Given the description of an element on the screen output the (x, y) to click on. 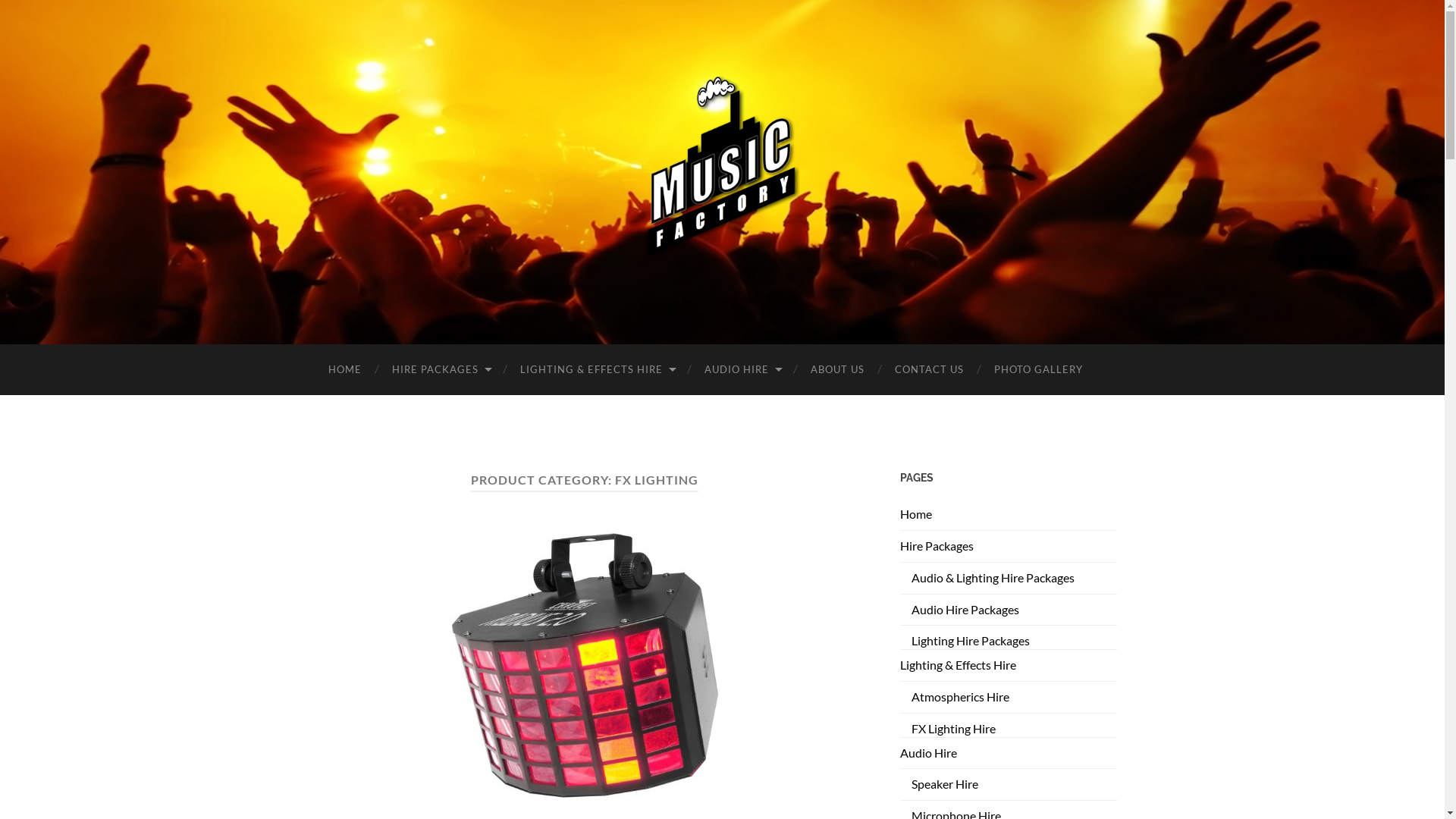
Lighting Hire Packages Element type: text (970, 640)
Music Factory Element type: text (722, 170)
Speaker Hire Element type: text (944, 783)
Audio & Lighting Hire Packages Element type: text (992, 577)
ABOUT US Element type: text (836, 369)
FX Lighting Hire Element type: text (953, 728)
LIGHTING & EFFECTS HIRE Element type: text (597, 369)
Home Element type: text (915, 513)
Audio Hire Element type: text (927, 752)
Lighting & Effects Hire Element type: text (957, 664)
HIRE PACKAGES Element type: text (440, 369)
CONTACT US Element type: text (929, 369)
Audio Hire Packages Element type: text (965, 609)
AUDIO HIRE Element type: text (741, 369)
Hire Packages Element type: text (935, 545)
PHOTO GALLERY Element type: text (1037, 369)
Atmospherics Hire Element type: text (960, 696)
HOME Element type: text (344, 369)
